Given the description of an element on the screen output the (x, y) to click on. 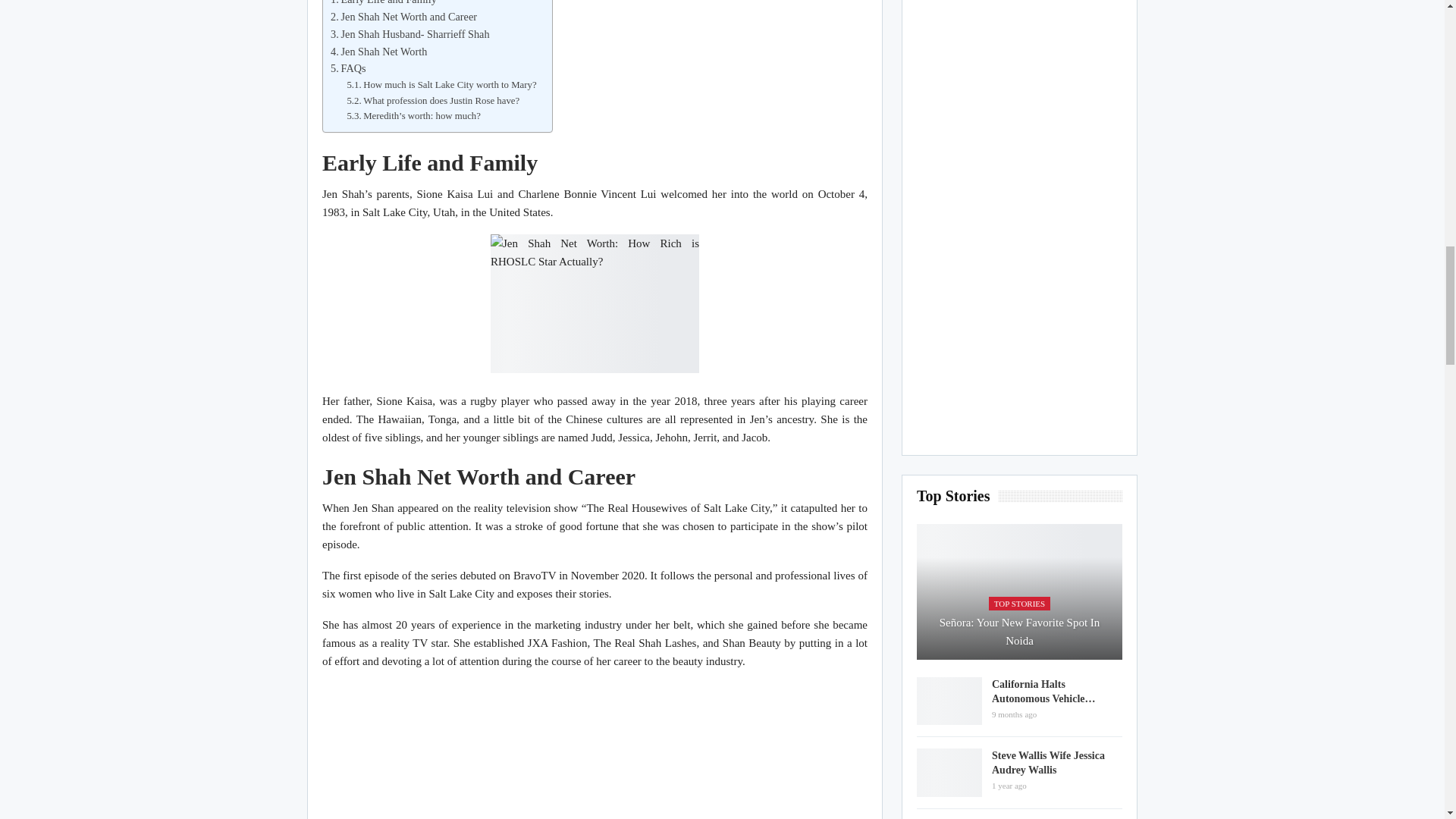
Jen Shah Net Worth and Career (403, 16)
Jen Shah Net Worth and Career (403, 16)
What profession does Justin Rose have? (432, 100)
Jen Shah Husband- Sharrieff Shah (409, 34)
Jen Shah Husband- Sharrieff Shah (409, 34)
Early Life and Family (383, 4)
Early Life and Family (383, 4)
'RHOSLC': Jen Shah Calls A Castmate's Actions 'Ungodlike' (594, 751)
How much is Salt Lake City worth to Mary? (440, 84)
Jen Shah Net Worth (378, 50)
Jen Shah Net Worth (378, 50)
FAQs (348, 67)
